Given the description of an element on the screen output the (x, y) to click on. 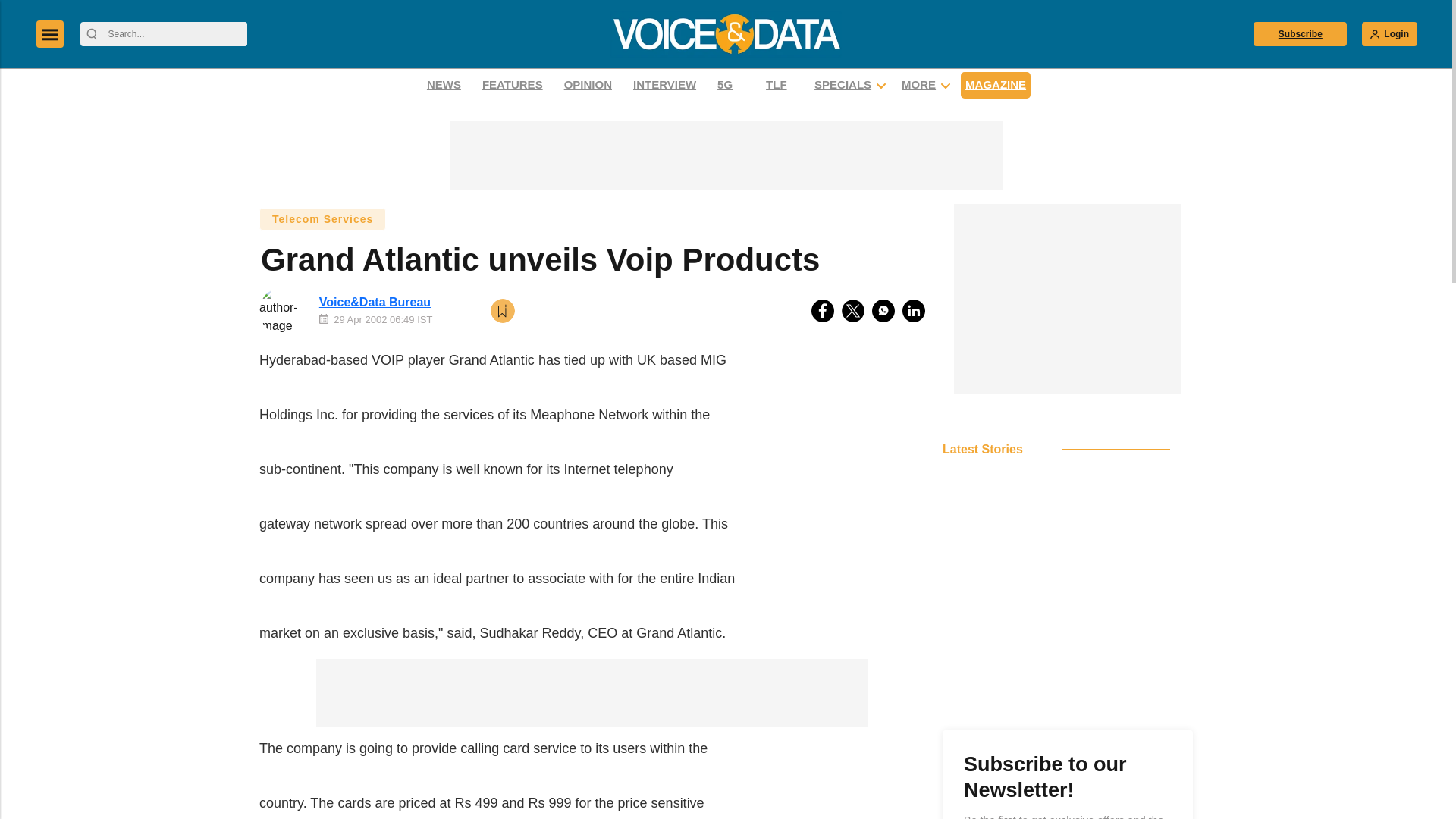
NEWS (443, 84)
INTERVIEW (664, 84)
MORE (918, 84)
MAGAZINE (995, 85)
FEATURES (512, 84)
5G (730, 84)
OPINION (588, 84)
Subscribe (1299, 33)
Login (1388, 33)
Telecom Services (322, 219)
